Given the description of an element on the screen output the (x, y) to click on. 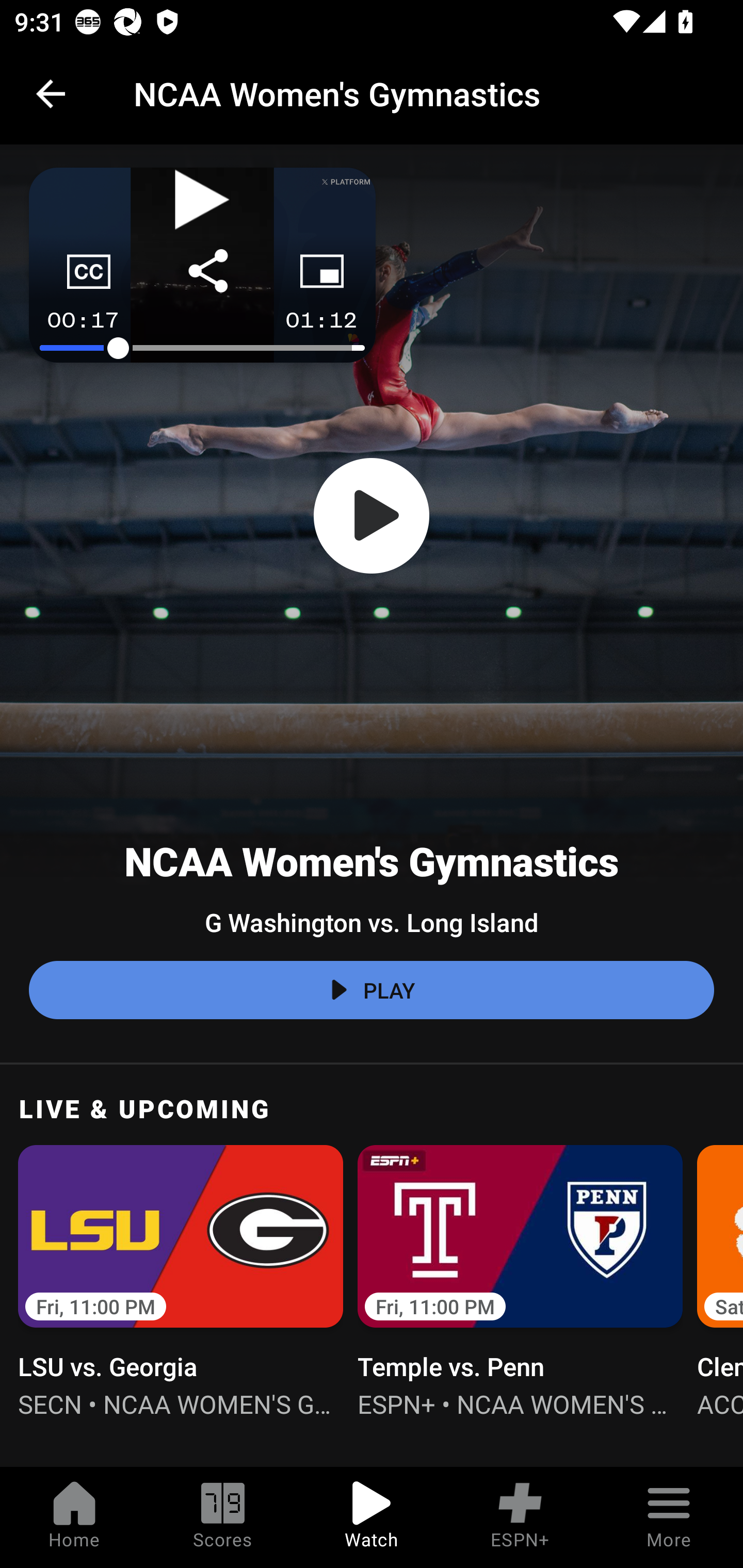
 (371, 515)
PLAY (371, 990)
Home (74, 1517)
Scores (222, 1517)
ESPN+ (519, 1517)
More (668, 1517)
